Given the description of an element on the screen output the (x, y) to click on. 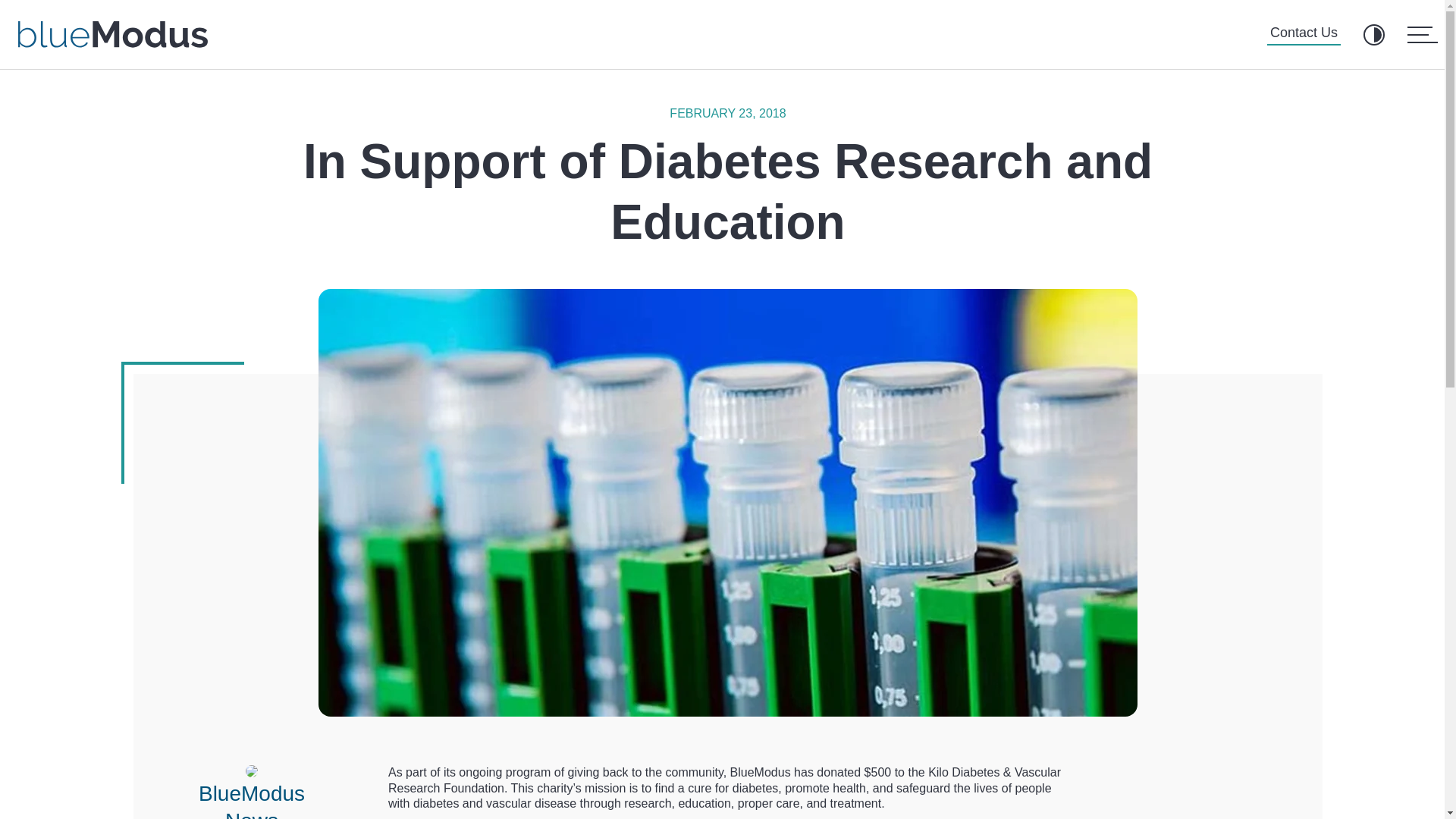
Website Support (1203, 702)
CMS Implementations (1218, 602)
Custom Development (1217, 627)
Digital Strategy (1199, 677)
Kentico (1010, 578)
Kontent.ai (1018, 702)
Website Redesigns (1210, 578)
Portfolio (854, 627)
Contact Us (1303, 34)
303.759.2100 (437, 716)
Azure (1007, 677)
Careers (854, 578)
Sitefinity (1013, 602)
Team (847, 652)
UX Design (1187, 652)
